Given the description of an element on the screen output the (x, y) to click on. 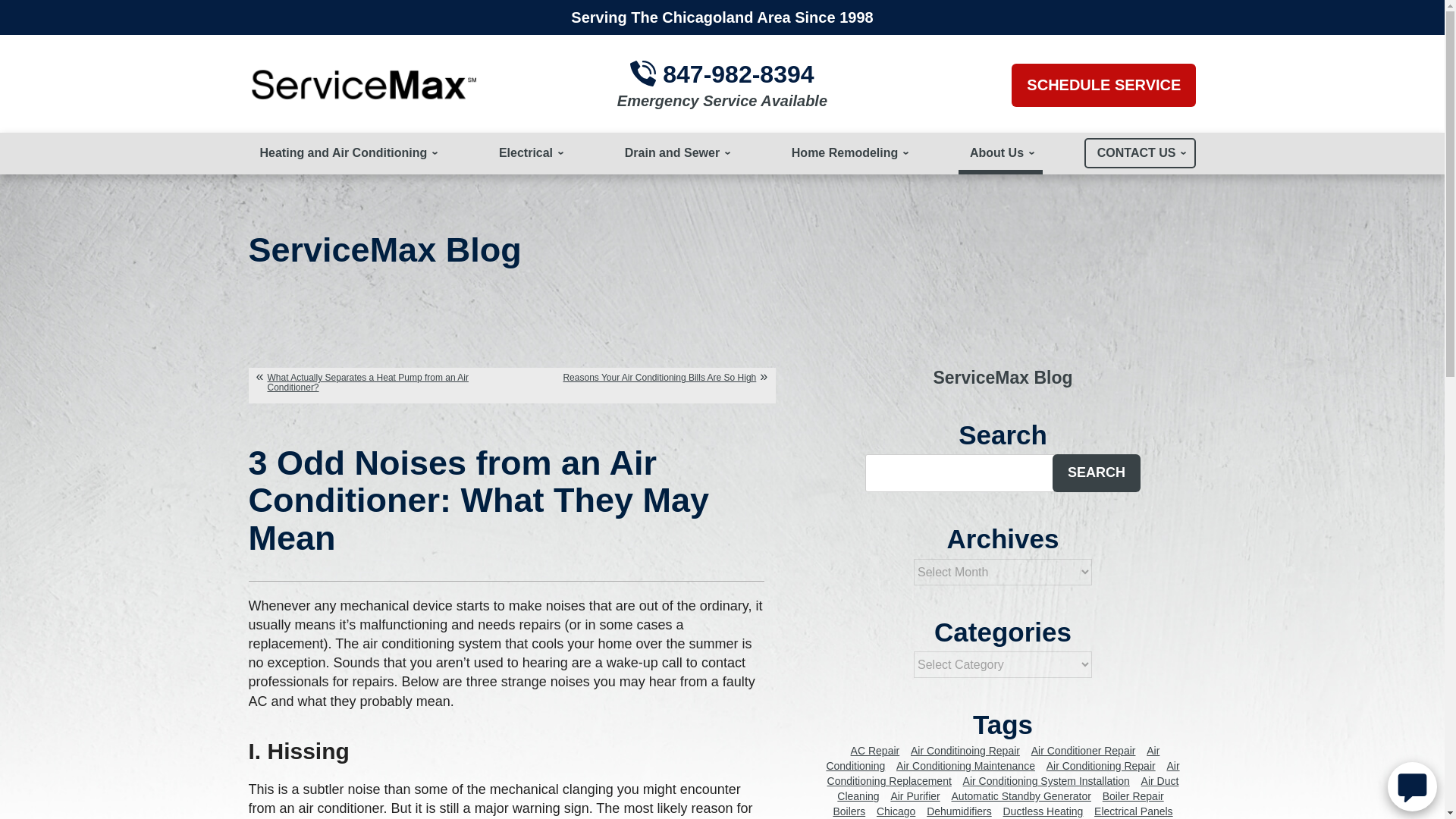
Heating and Air Conditioning (347, 153)
847-982-8394 (737, 73)
SCHEDULE SERVICE (1103, 85)
